Given the description of an element on the screen output the (x, y) to click on. 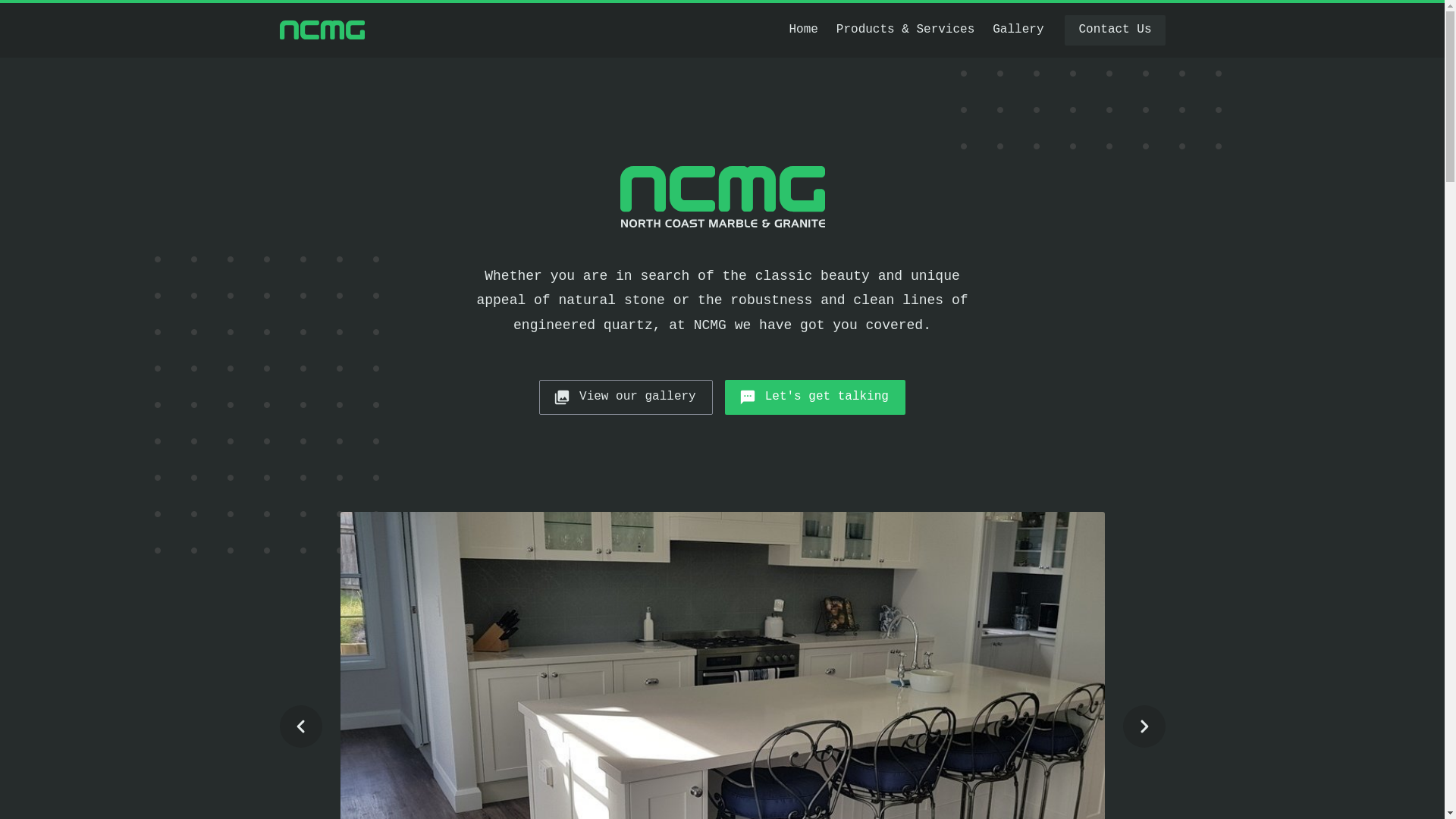
View our gallery Element type: text (625, 396)
Products & Services Element type: text (905, 30)
Home Element type: text (802, 30)
Contact Us Element type: text (1114, 30)
Let's get talking Element type: text (814, 396)
Gallery Element type: text (1017, 30)
